Given the description of an element on the screen output the (x, y) to click on. 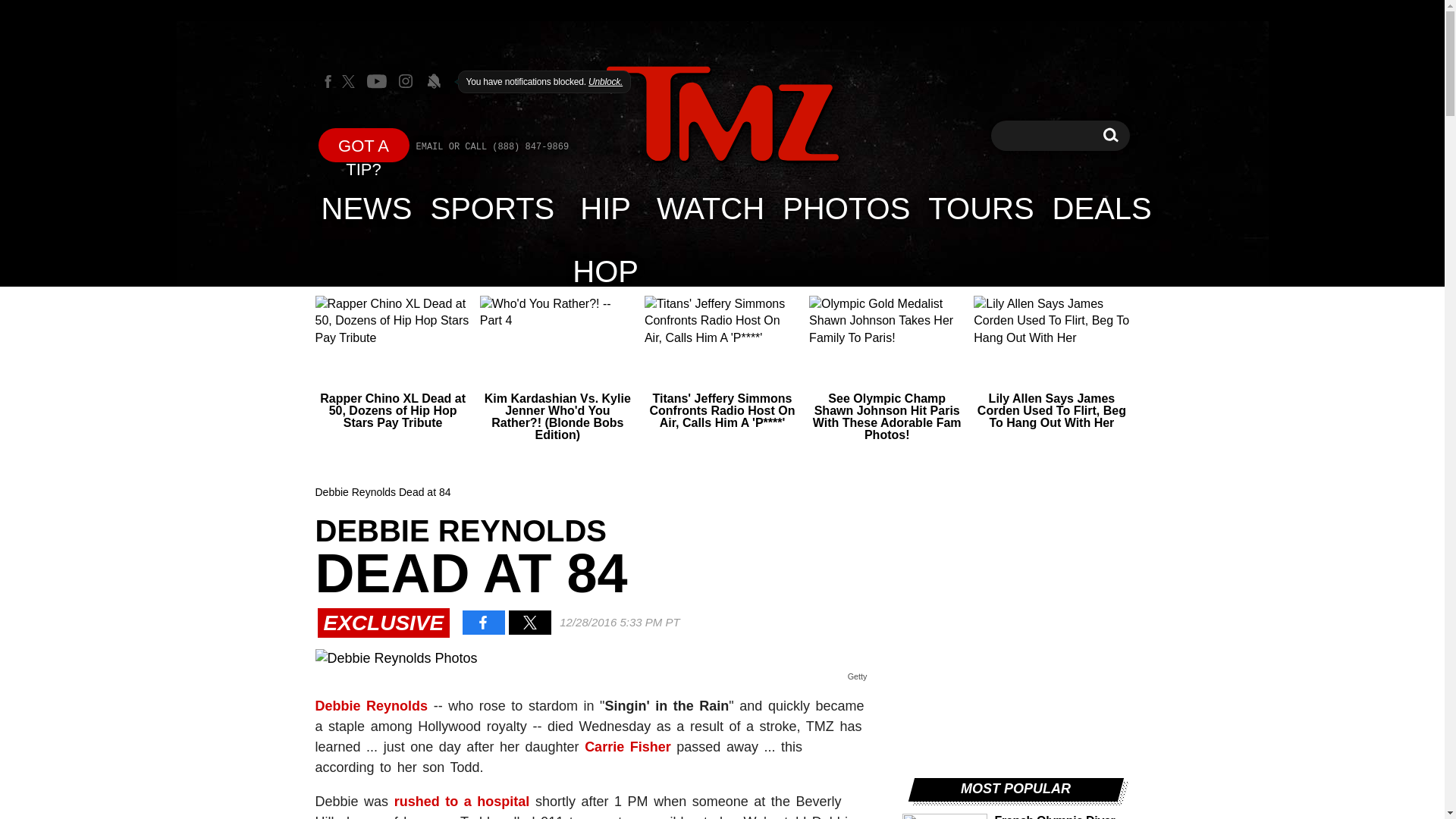
GOT A TIP? (363, 144)
WATCH (710, 207)
NEWS (367, 207)
Search (1110, 134)
TMZ (722, 113)
PHOTOS (845, 207)
HIP HOP (605, 207)
SPORTS (1110, 135)
DEALS (493, 207)
TMZ (1101, 207)
TOURS (722, 115)
